Given the description of an element on the screen output the (x, y) to click on. 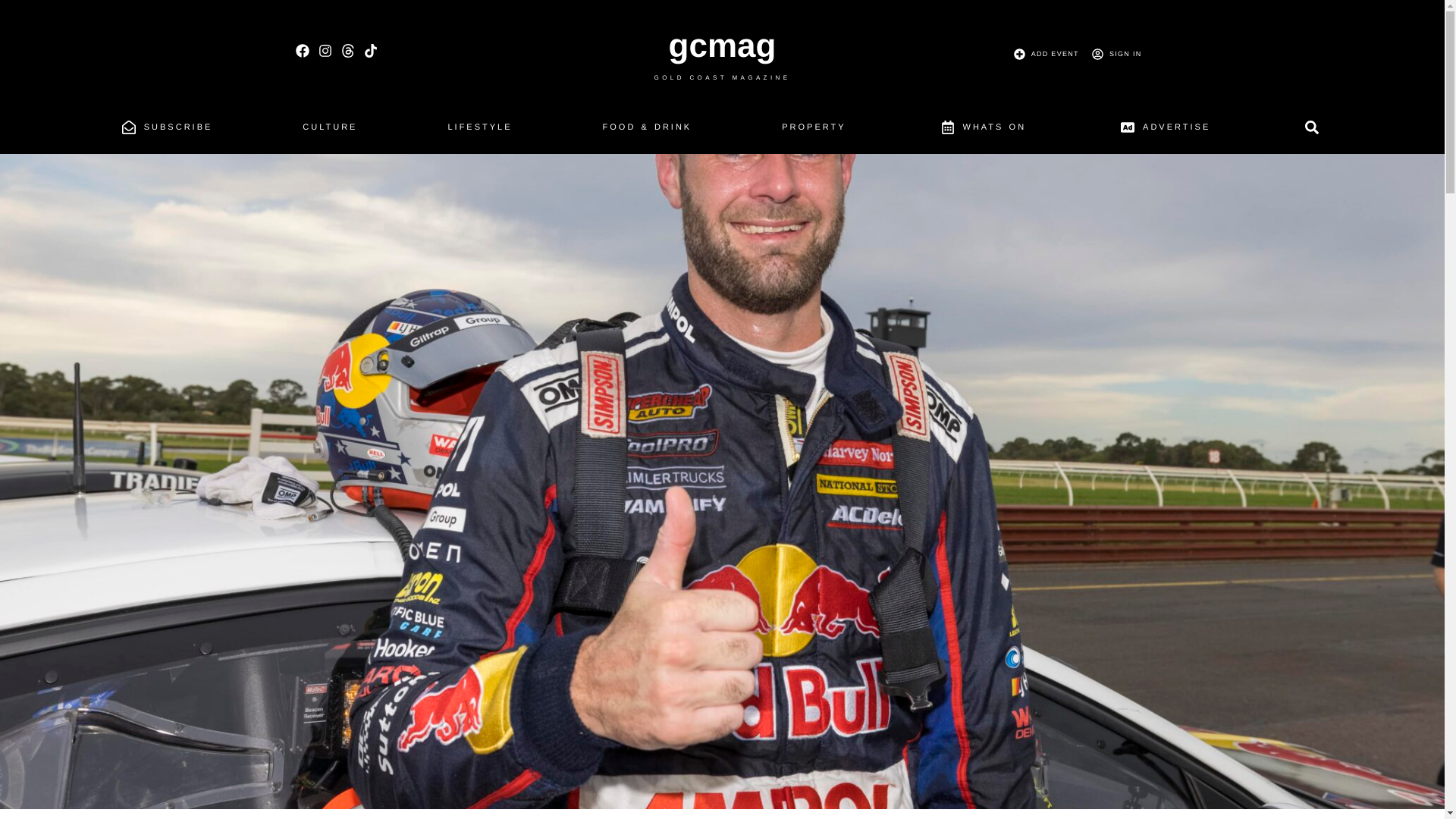
SIGN IN (1113, 53)
gcmag (722, 45)
ADD EVENT (1043, 53)
SUBSCRIBE (164, 131)
CULTURE (329, 130)
ADVERTISE (1162, 131)
WHATS ON (981, 131)
LIFESTYLE (479, 130)
PROPERTY (813, 130)
